Given the description of an element on the screen output the (x, y) to click on. 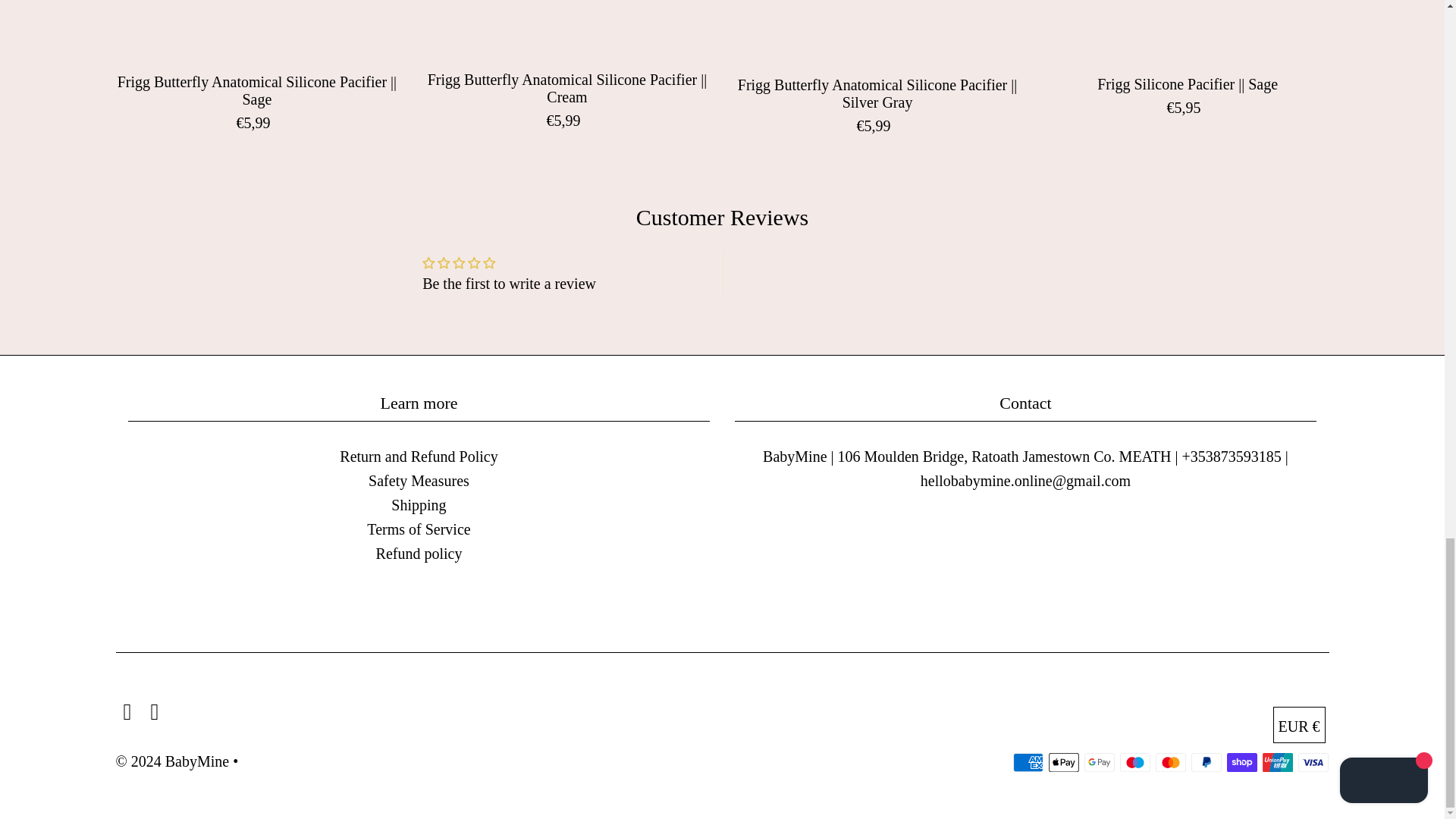
Mastercard (1171, 762)
Google Pay (1099, 762)
PayPal (1206, 762)
Apple Pay (1063, 762)
Maestro (1134, 762)
Visa (1312, 762)
American Express (1028, 762)
Union Pay (1277, 762)
Shop Pay (1242, 762)
